Given the description of an element on the screen output the (x, y) to click on. 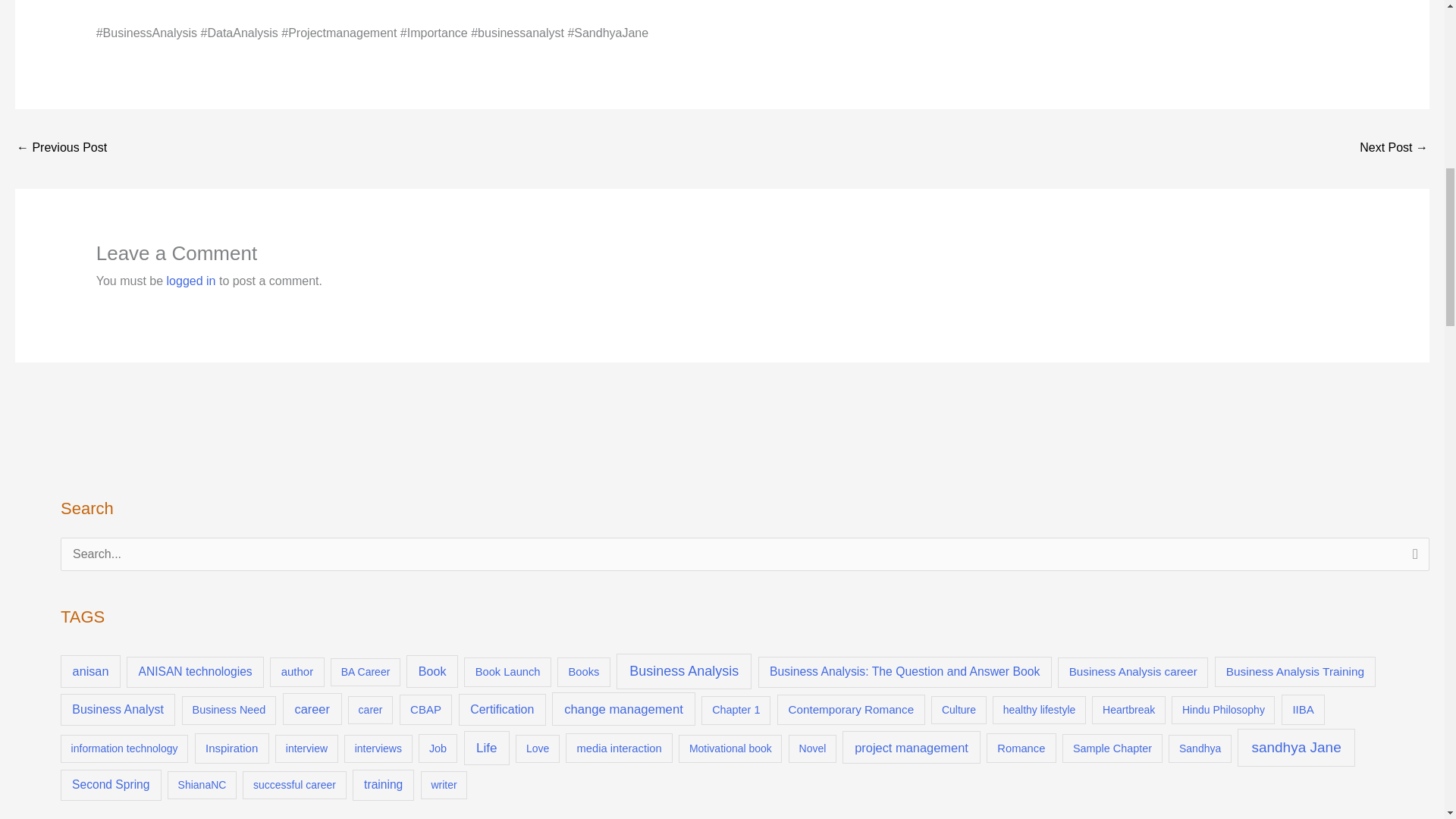
Job Offer - Is it worth it? (1393, 148)
Is Business Analysis Role Losing Its Shine? (61, 148)
